Given the description of an element on the screen output the (x, y) to click on. 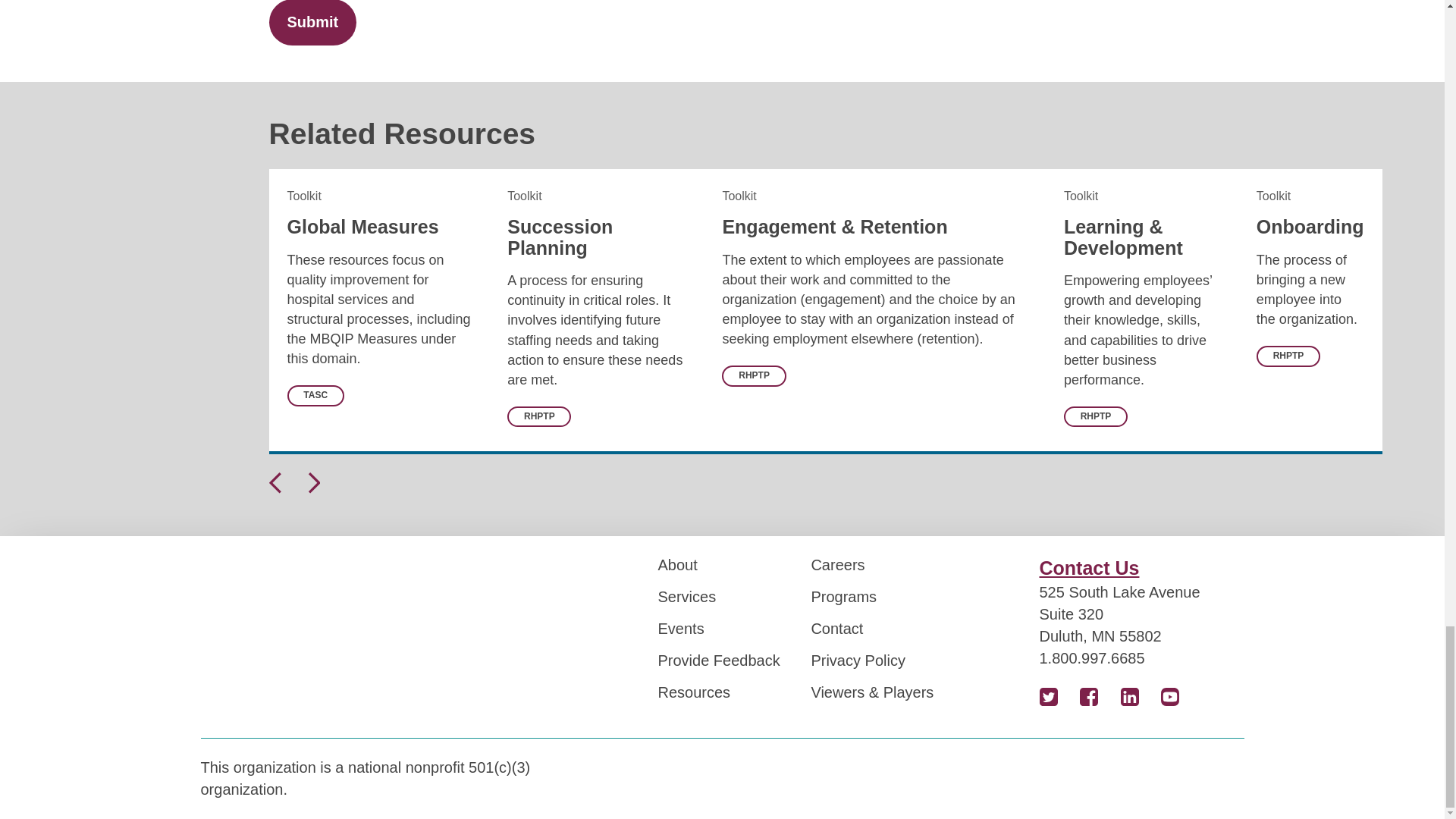
Global Measures (362, 226)
RHPTP (754, 375)
Succession Planning (559, 237)
RHPTP (1288, 355)
RHPTP (1095, 416)
RHPTP (538, 416)
Submit (311, 22)
Submit (311, 22)
Onboarding (1310, 226)
TASC (314, 394)
